Given the description of an element on the screen output the (x, y) to click on. 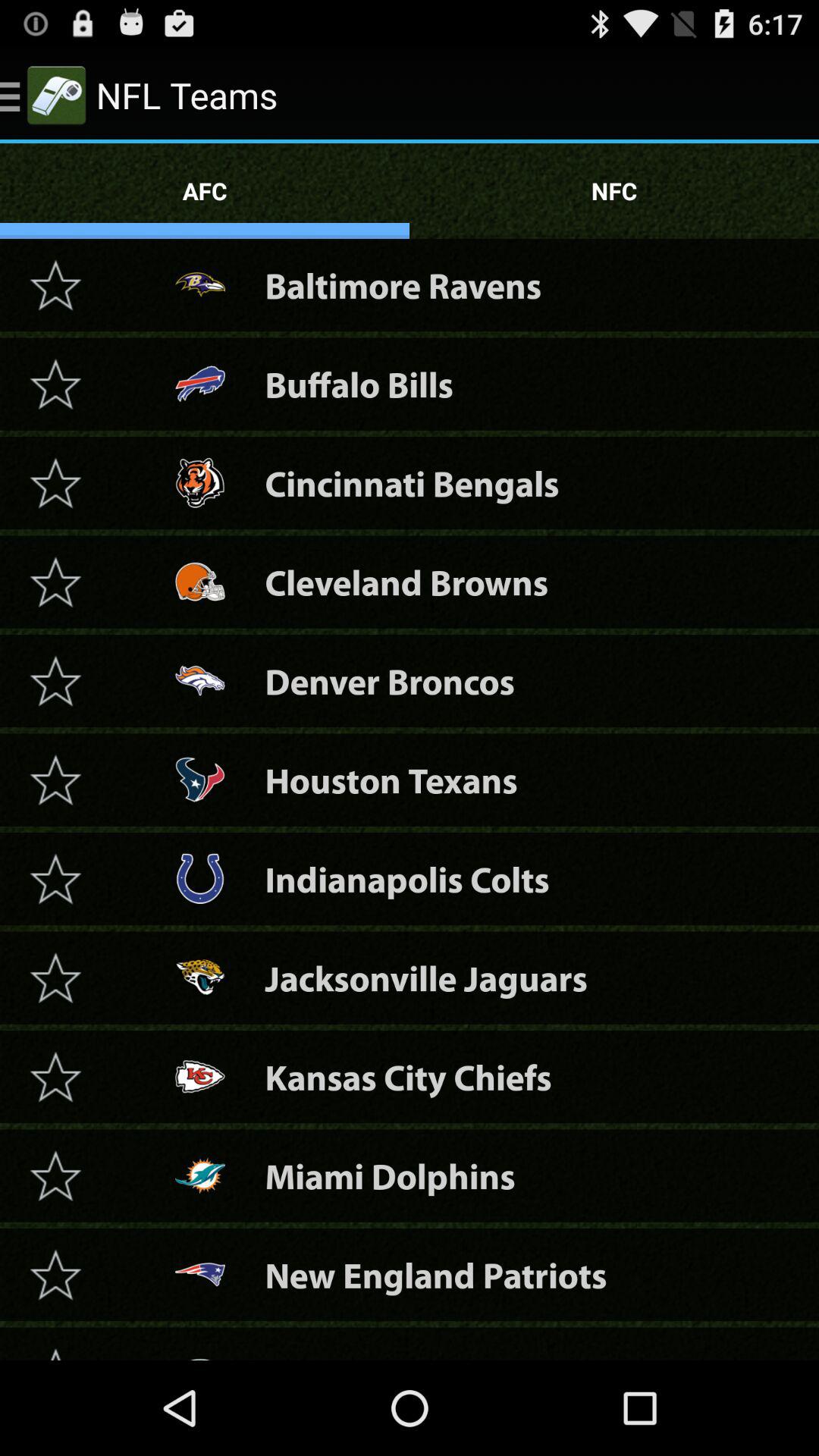
tap item below jacksonville jaguars (408, 1076)
